Given the description of an element on the screen output the (x, y) to click on. 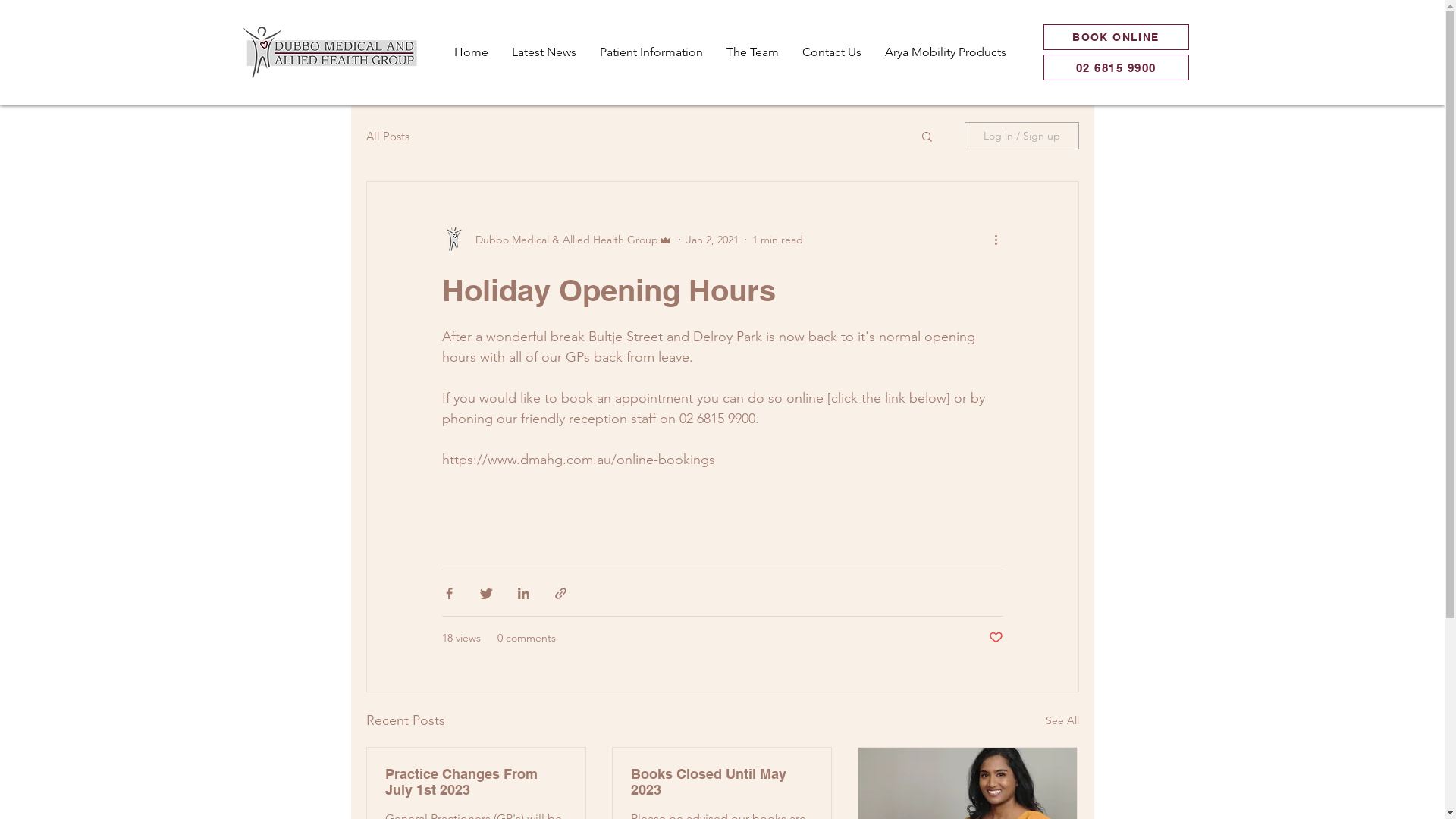
See All Element type: text (1061, 720)
Latest News Element type: text (542, 52)
All Posts Element type: text (386, 135)
Log in / Sign up Element type: text (1021, 135)
Post not marked as liked Element type: text (995, 638)
Patient Information Element type: text (649, 52)
Arya Mobility Products Element type: text (944, 52)
02 6815 9900 Element type: text (1116, 67)
Home Element type: text (469, 52)
Contact Us Element type: text (831, 52)
BOOK ONLINE Element type: text (1116, 37)
The Team Element type: text (752, 52)
Books Closed Until May 2023 Element type: text (721, 781)
Practice Changes From July 1st 2023 Element type: text (476, 781)
